Given the description of an element on the screen output the (x, y) to click on. 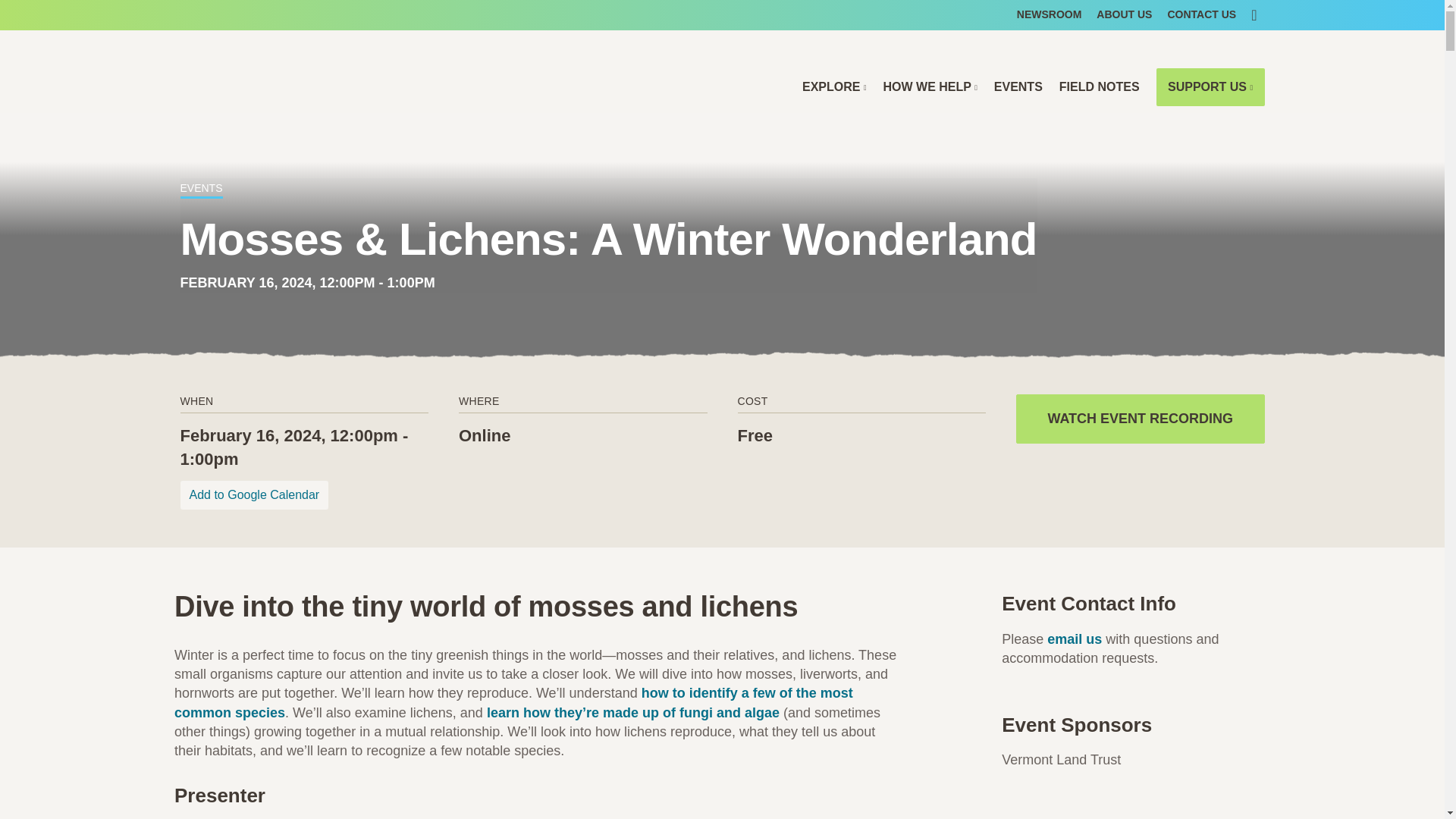
Add to Google Calendar (254, 494)
SKIP TO MAIN CONTENT (722, 10)
EVENTS (201, 189)
EVENTS (1018, 86)
NEWSROOM (1049, 15)
FIELD NOTES (1099, 86)
ABOUT US (1123, 15)
EXPLORE (834, 86)
CONTACT US (1200, 15)
SUPPORT US (1210, 86)
Open Search Form (1253, 15)
HOW WE HELP (929, 86)
